Given the description of an element on the screen output the (x, y) to click on. 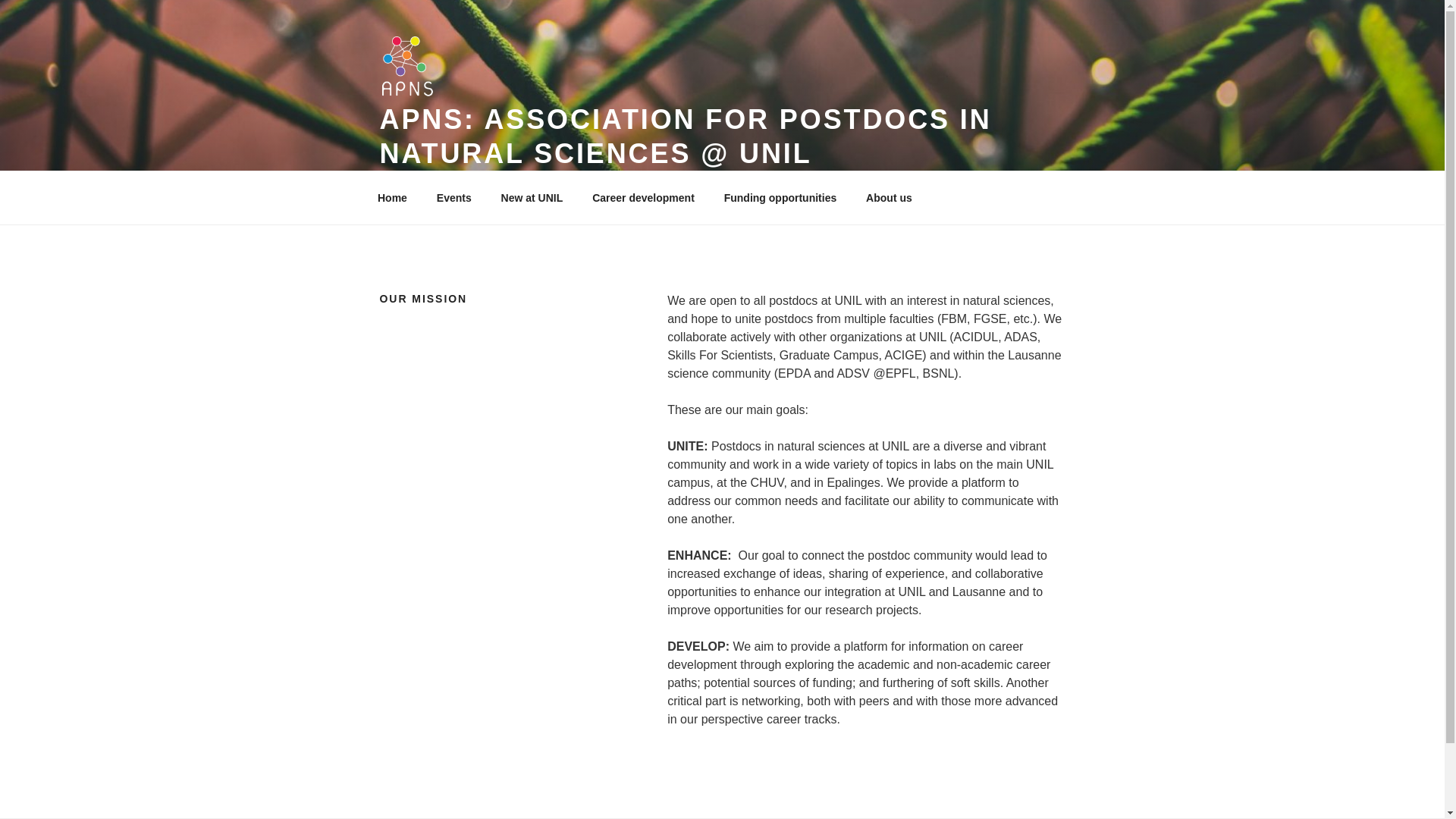
Events (453, 197)
Funding opportunities (780, 197)
Career development (643, 197)
Home (392, 197)
New at UNIL (531, 197)
About us (894, 197)
